Given the description of an element on the screen output the (x, y) to click on. 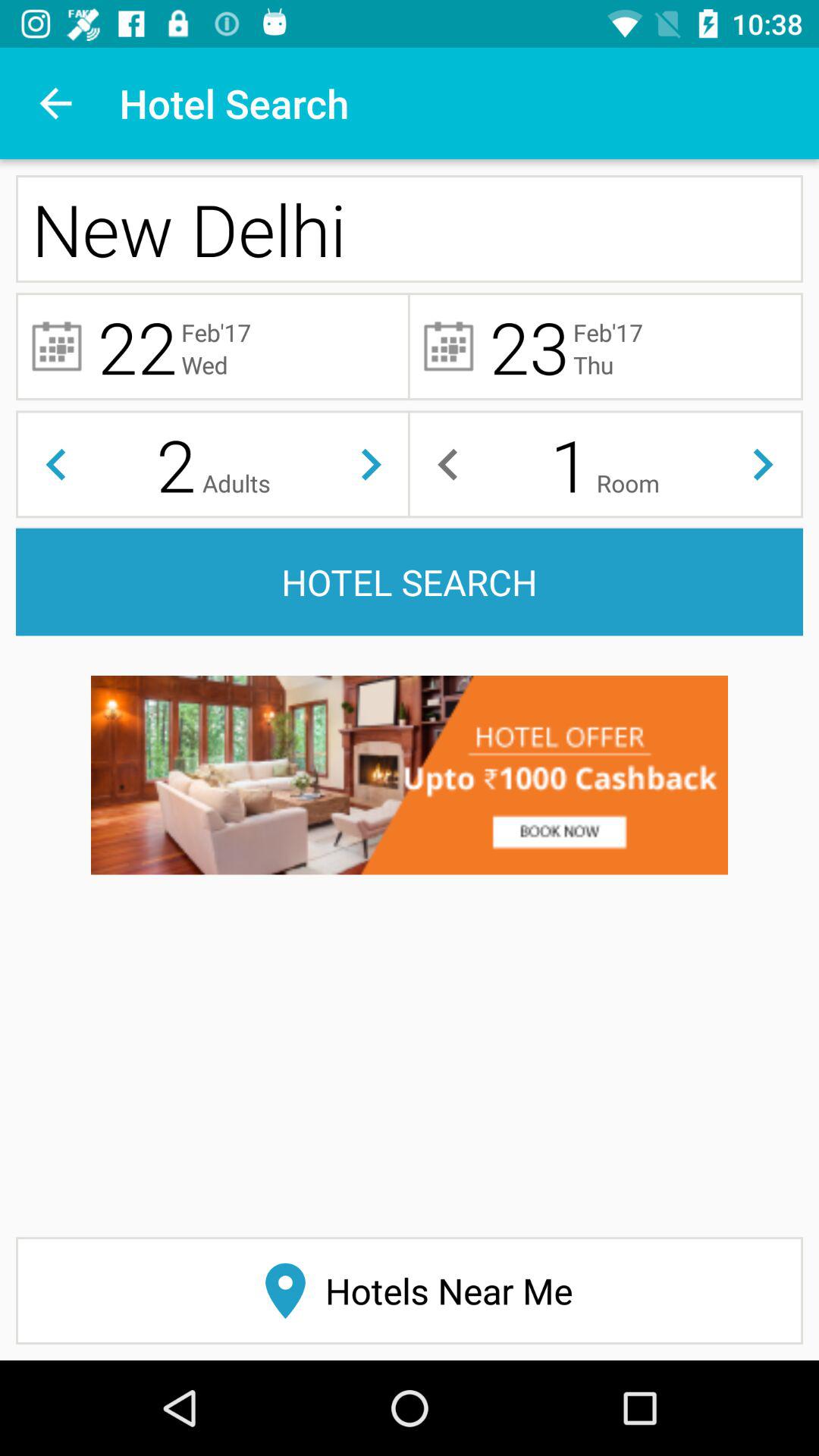
to select the number of rooms (447, 464)
